Given the description of an element on the screen output the (x, y) to click on. 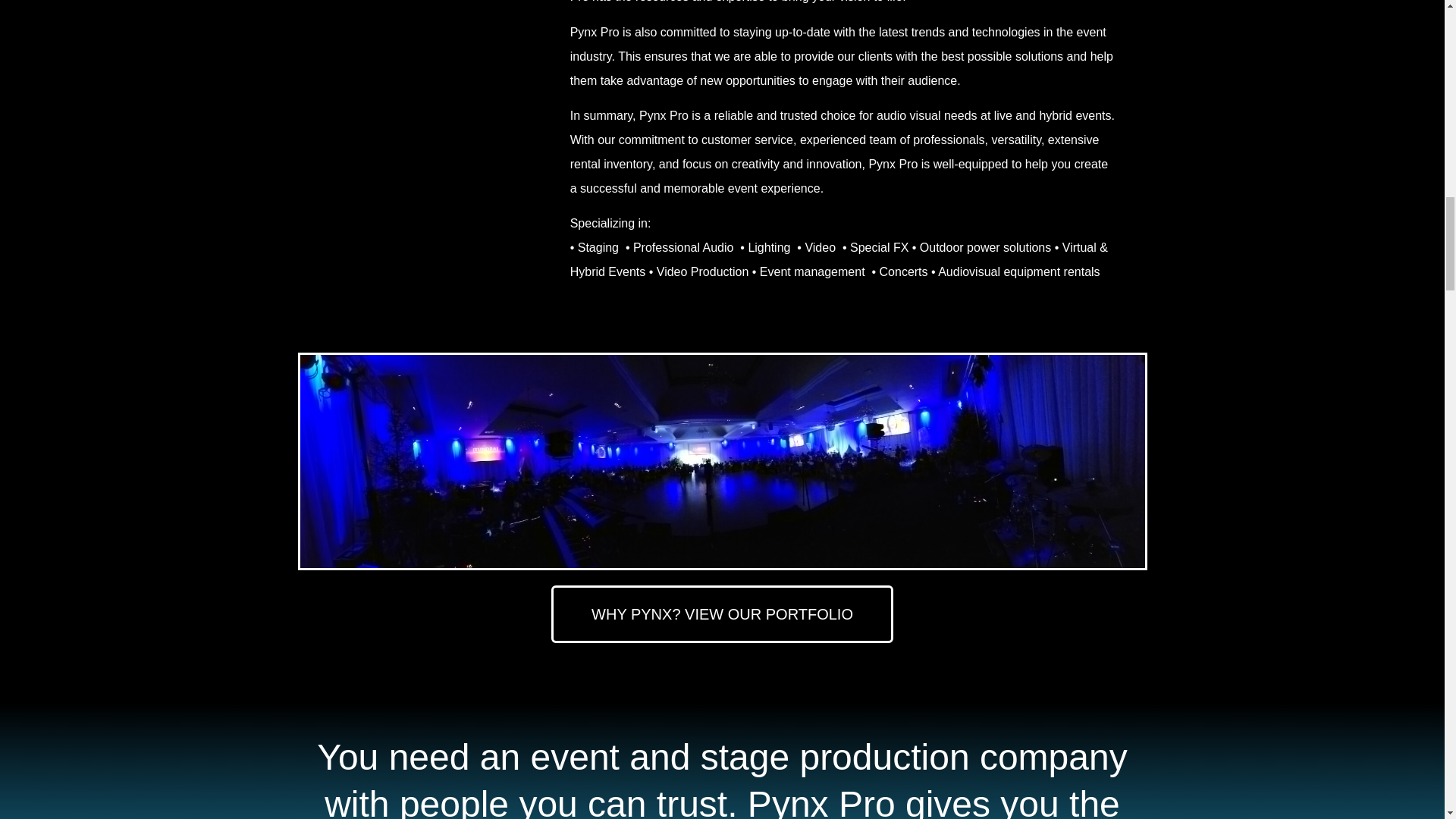
WHY PYNX? VIEW OUR PORTFOLIO (722, 613)
